Given the description of an element on the screen output the (x, y) to click on. 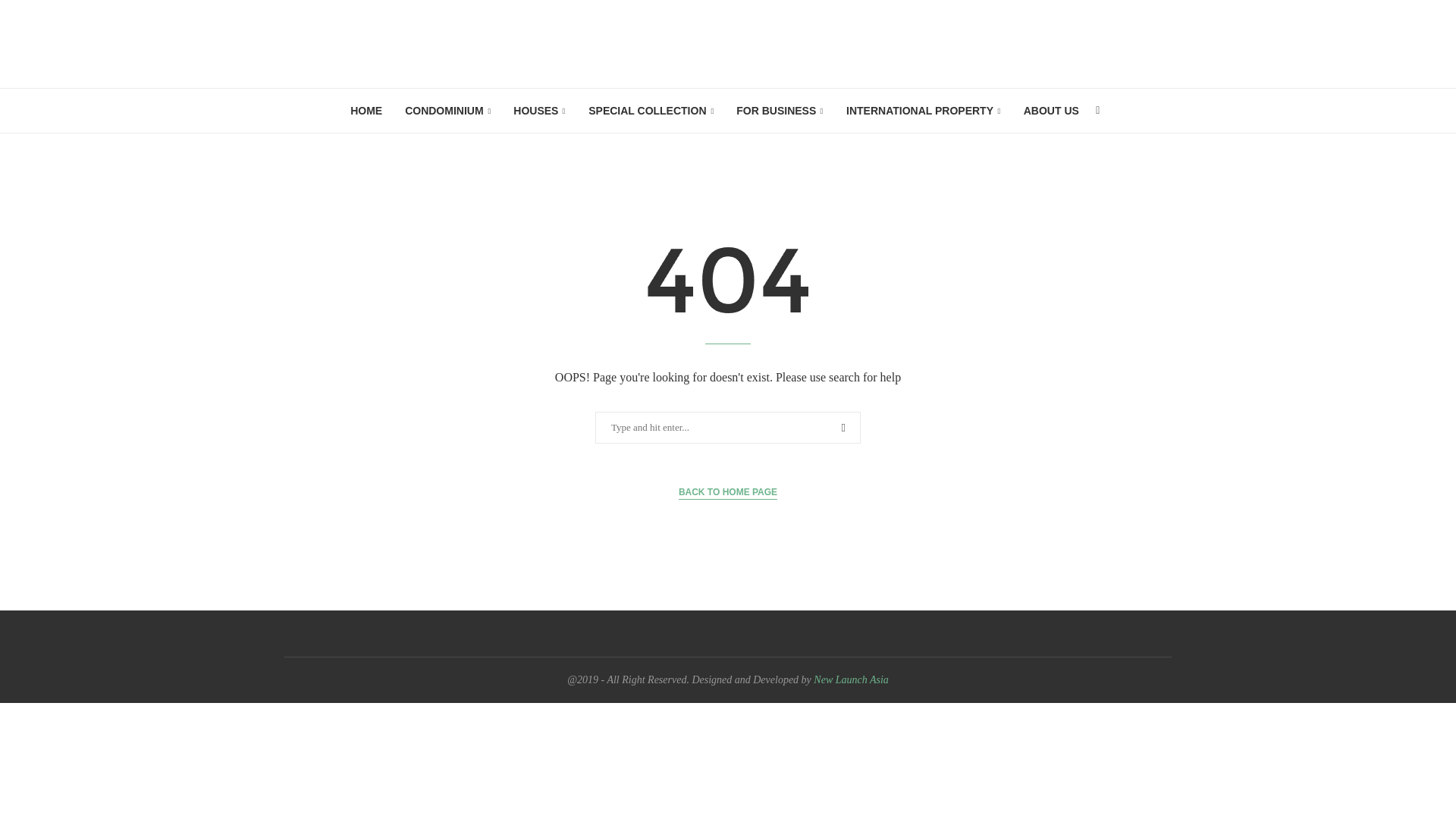
Search (35, 15)
FOR BUSINESS (780, 110)
BACK TO HOME PAGE (727, 492)
INTERNATIONAL PROPERTY (923, 110)
HOUSES (539, 110)
SPECIAL COLLECTION (650, 110)
CONDOMINIUM (447, 110)
ABOUT US (1050, 110)
